Given the description of an element on the screen output the (x, y) to click on. 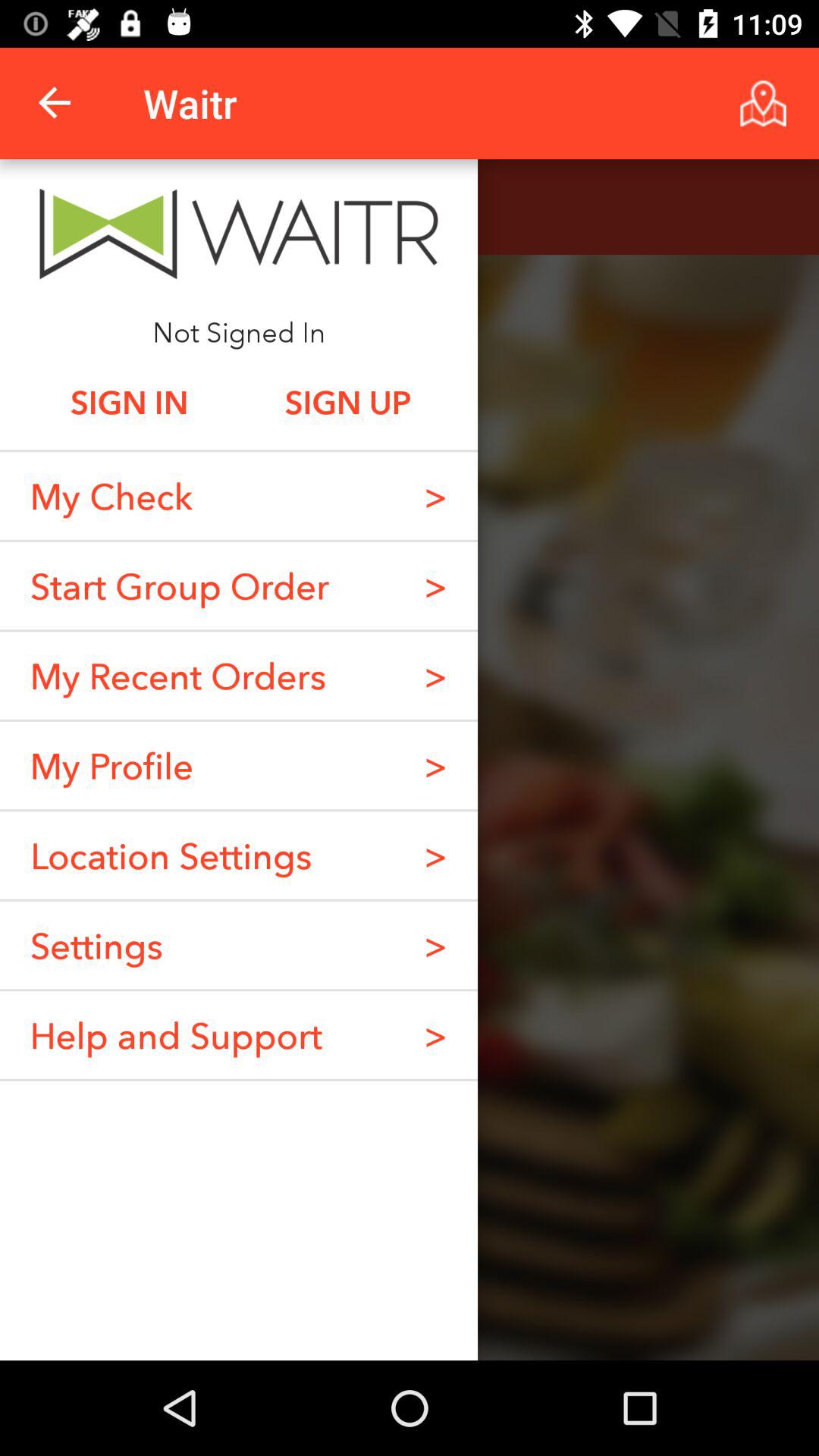
scroll until the location settings item (170, 855)
